Given the description of an element on the screen output the (x, y) to click on. 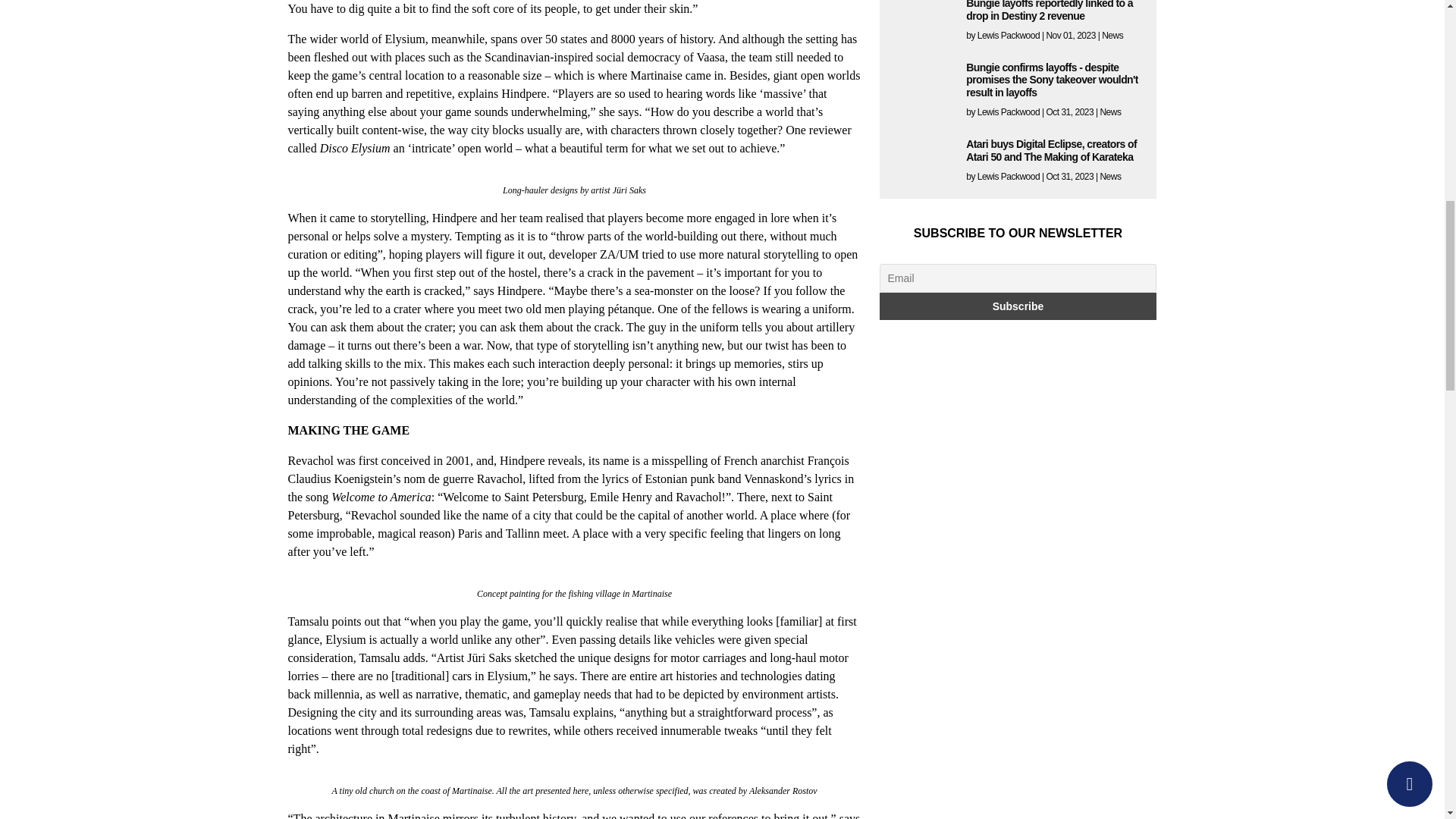
Subscribe (1018, 306)
